Given the description of an element on the screen output the (x, y) to click on. 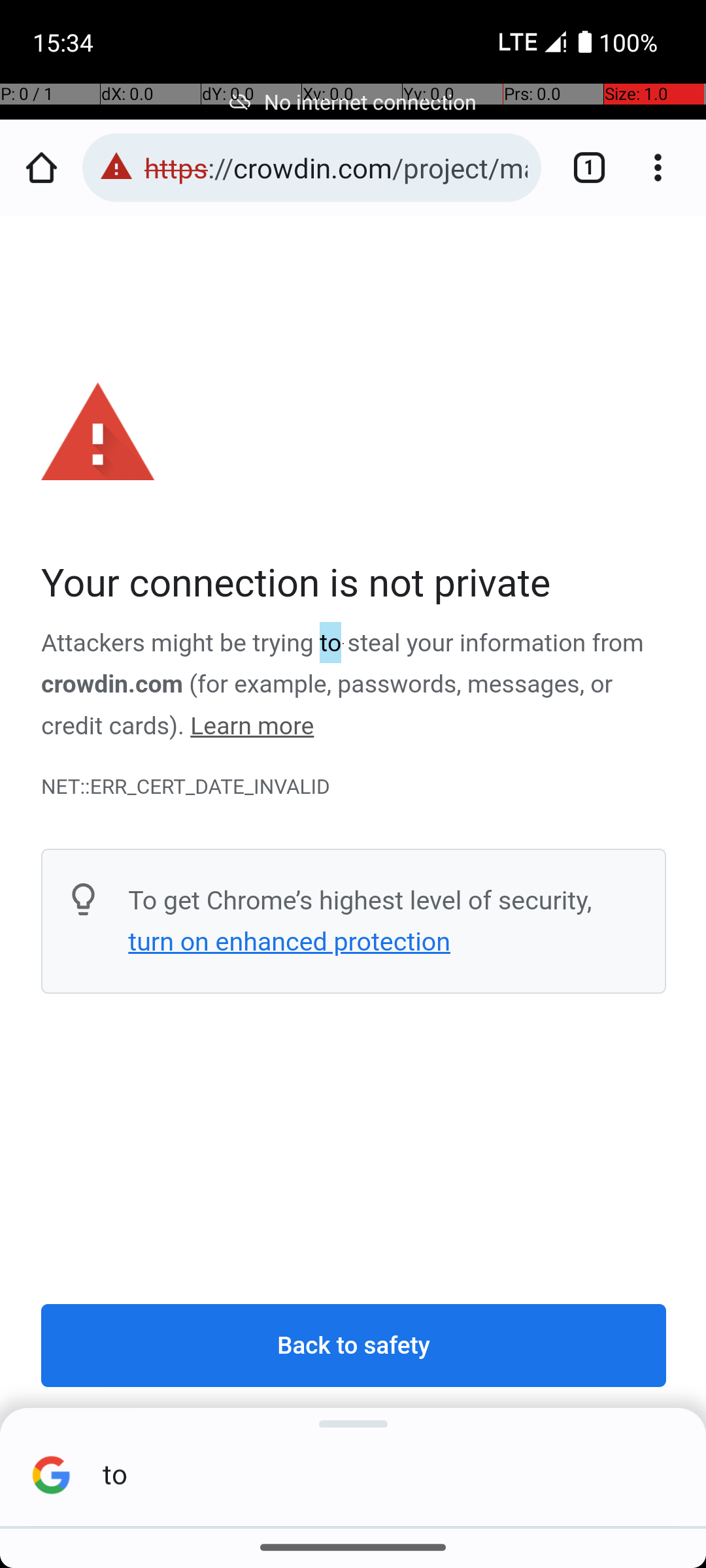
https://crowdin.com/project/markor/invite Element type: android.widget.EditText (335, 167)
crowdin.com Element type: android.widget.TextView (112, 684)
